Given the description of an element on the screen output the (x, y) to click on. 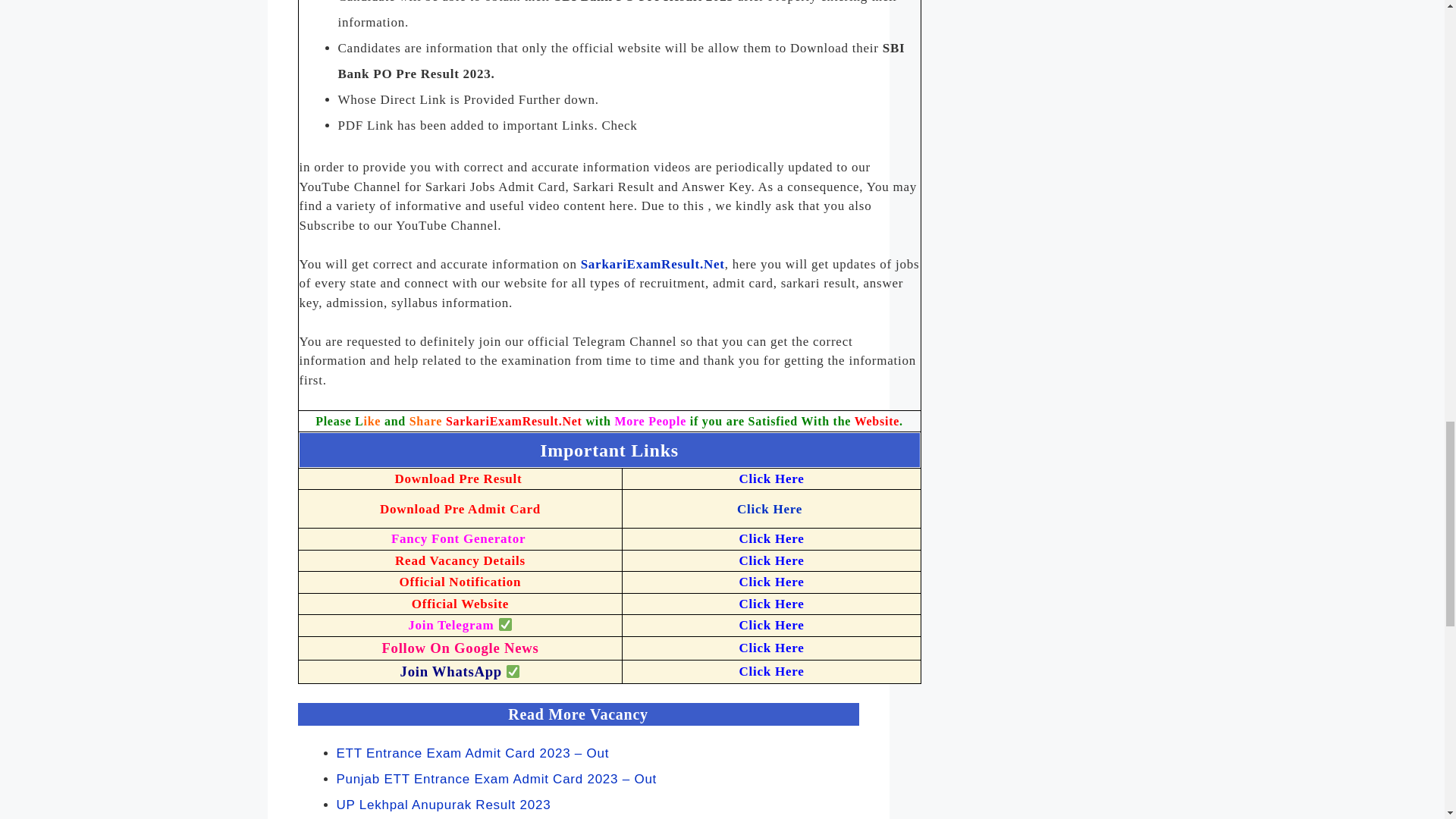
UP Lekhpal Anupurak Result 2023 (443, 804)
SarkariExamResult.Net (515, 420)
Click Here (770, 603)
Click Here (770, 560)
Click Here (770, 581)
Click Here (770, 625)
Click Here (770, 478)
Click Here (769, 509)
Click Here (770, 647)
Click Here (770, 671)
